Given the description of an element on the screen output the (x, y) to click on. 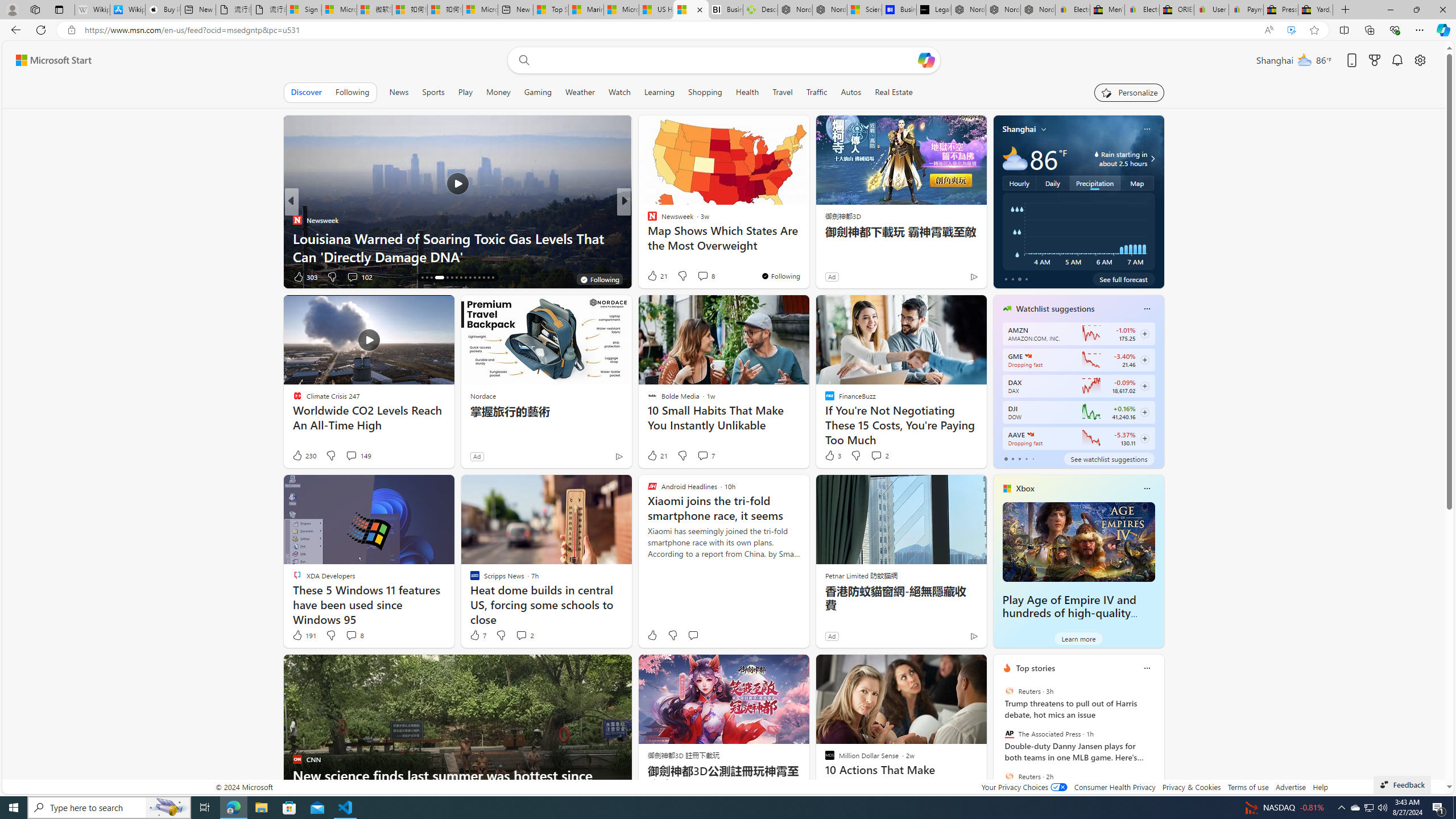
Aave (1029, 434)
21 Like (657, 455)
View comments 7 Comment (705, 455)
Bolde Media (647, 219)
